Given the description of an element on the screen output the (x, y) to click on. 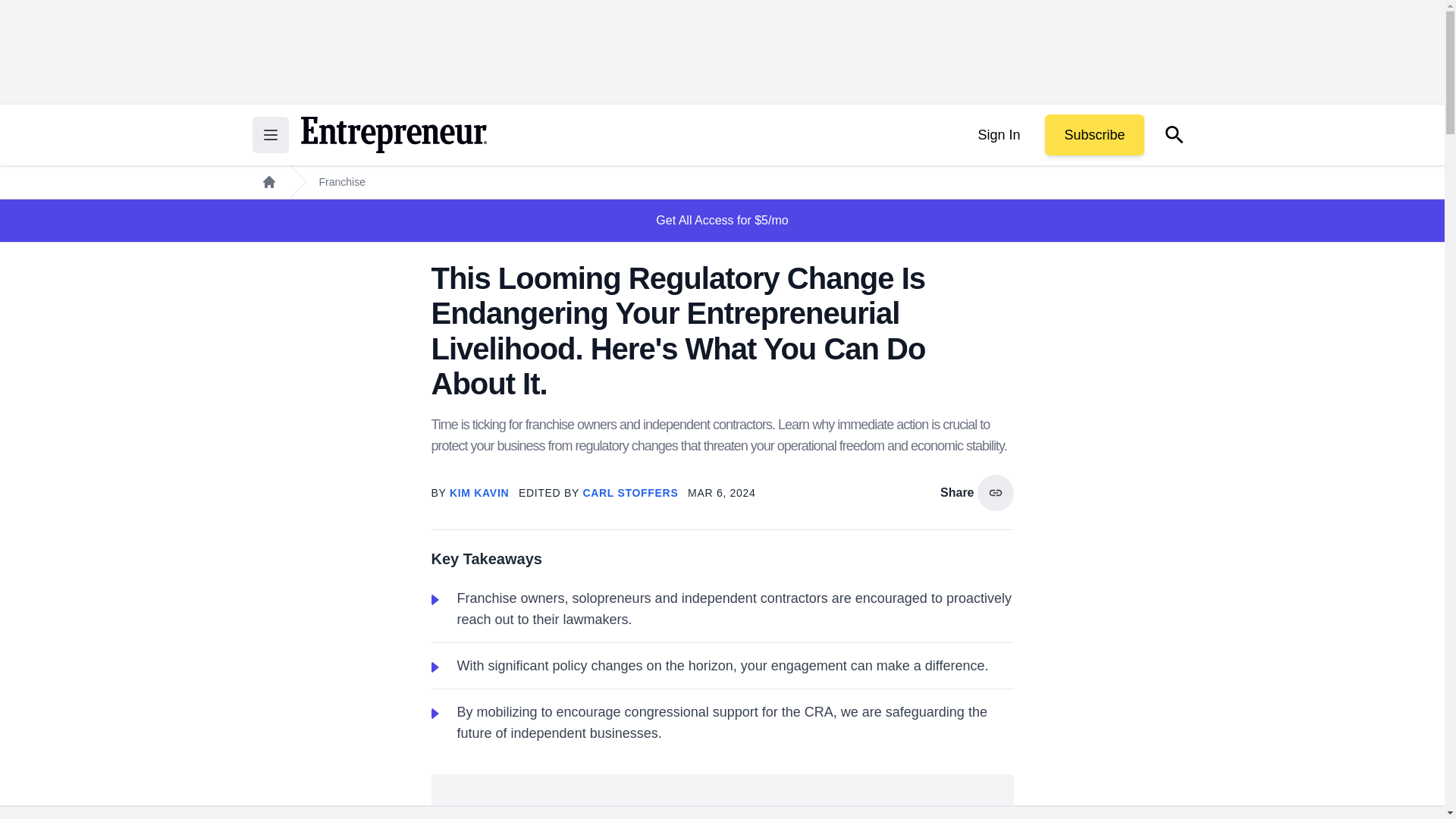
Return to the home page (392, 135)
Subscribe (1093, 134)
copy (994, 493)
Sign In (998, 134)
